Given the description of an element on the screen output the (x, y) to click on. 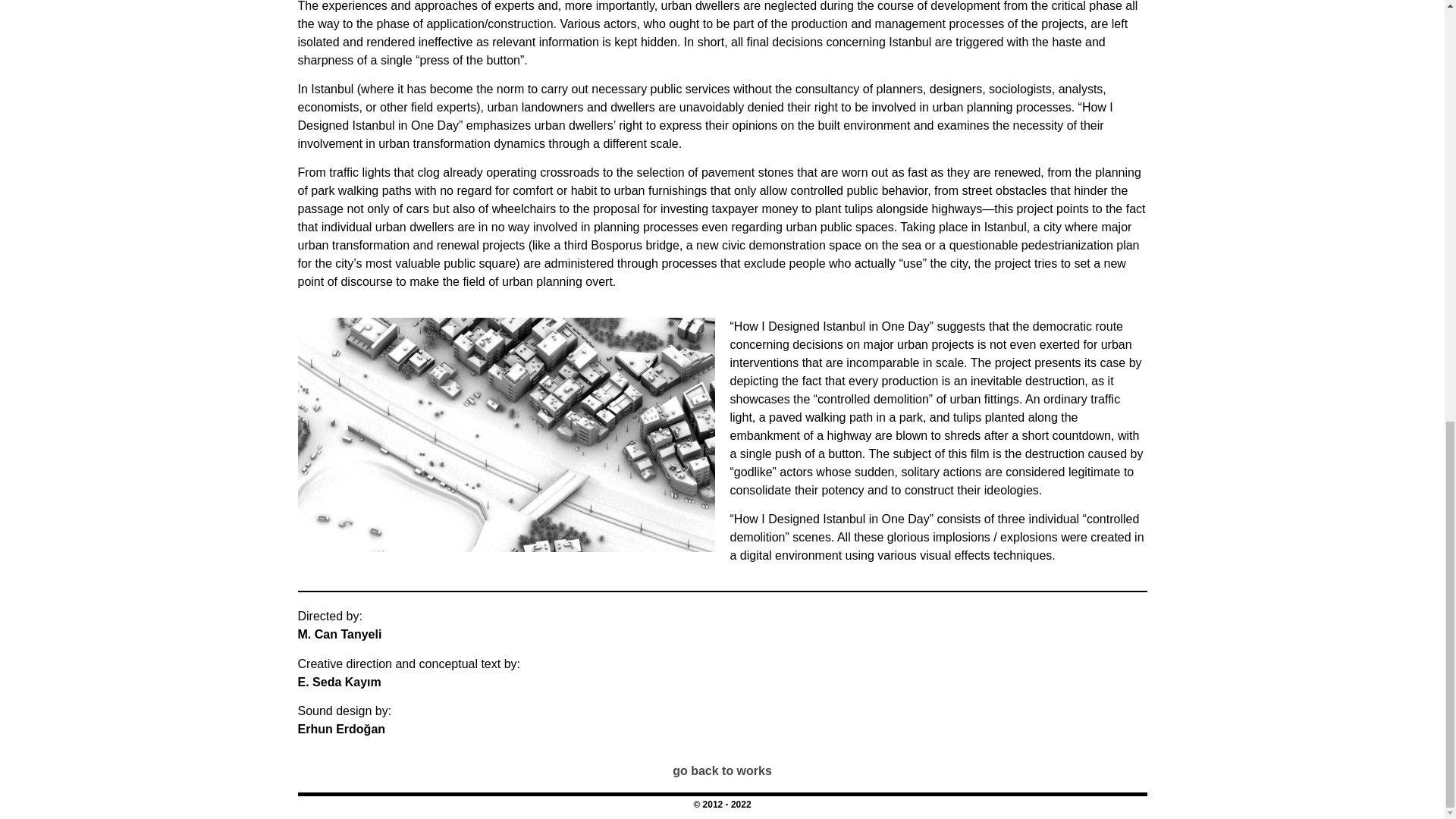
go back to works (721, 770)
Clay render of the freeway embankment (505, 434)
